Given the description of an element on the screen output the (x, y) to click on. 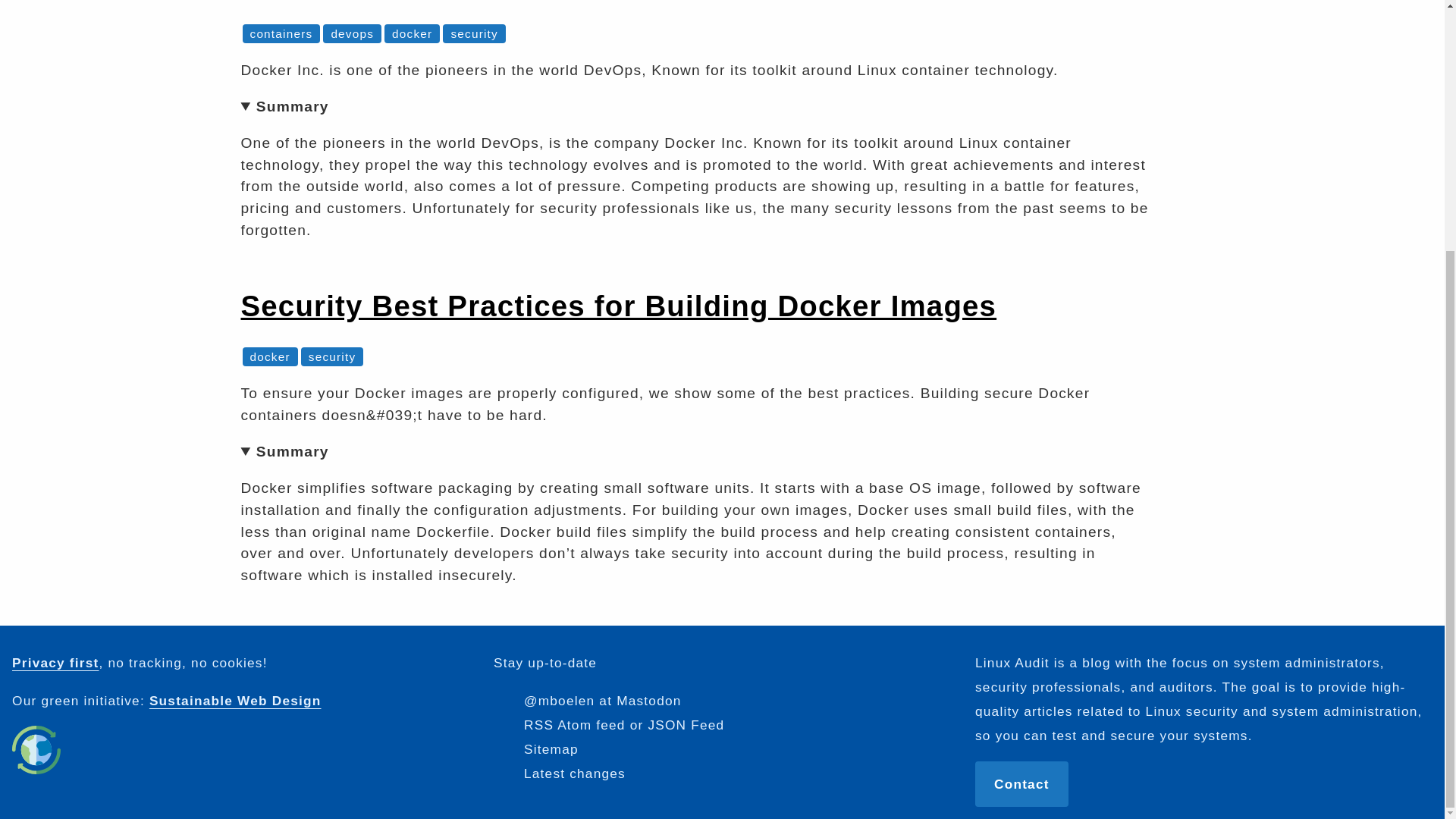
containers (281, 33)
docker (411, 33)
devops (352, 33)
Security Best Practices for Building Docker Images (619, 305)
security (473, 33)
docker (269, 356)
Learn more about the sustainable web design of this blog (36, 749)
